Given the description of an element on the screen output the (x, y) to click on. 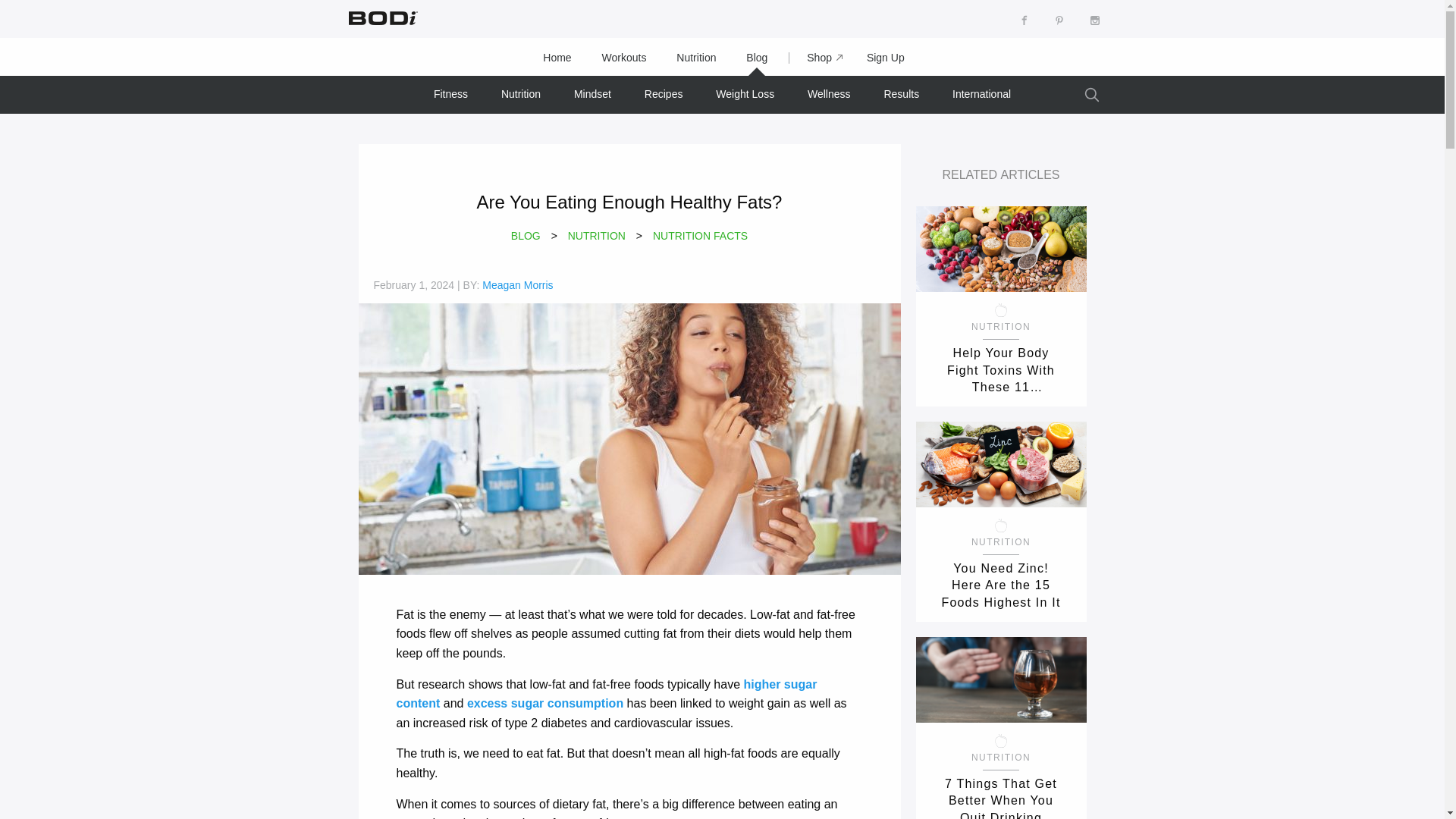
Blog (756, 57)
Shop (817, 57)
Nutrition (695, 57)
Sign Up (885, 57)
Beachbody on Demand (381, 17)
Posts by Meagan Morris (517, 285)
Nutrition (521, 93)
Thursday, February 1, 2024, 3:58 pm (413, 285)
Workouts (624, 57)
Home (556, 57)
Mindset (592, 93)
Fitness (451, 93)
Recipes (663, 93)
